Given the description of an element on the screen output the (x, y) to click on. 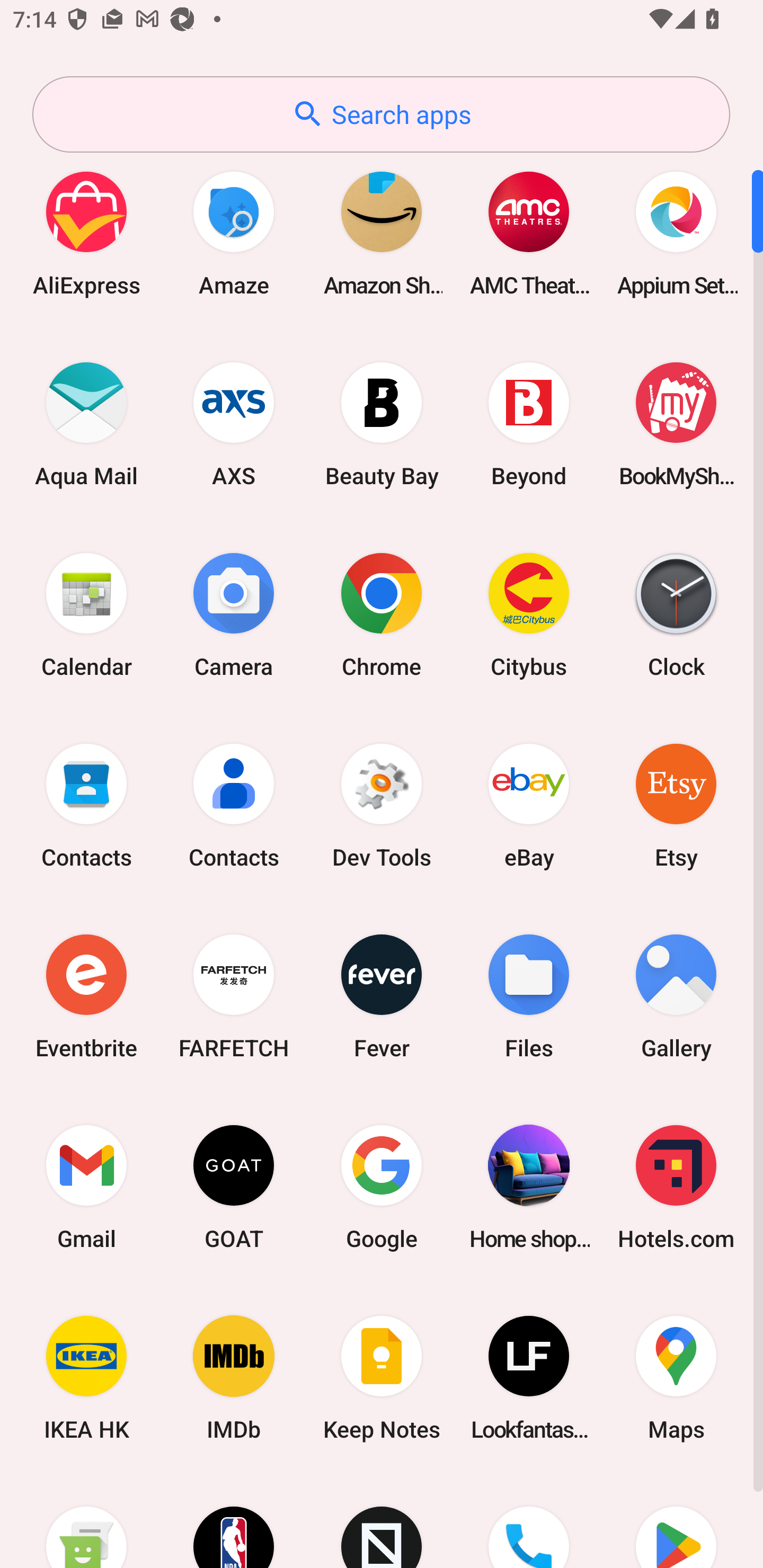
  Search apps (381, 114)
AliExpress (86, 233)
Amaze (233, 233)
Amazon Shopping (381, 233)
AMC Theatres (528, 233)
Appium Settings (676, 233)
Aqua Mail (86, 424)
AXS (233, 424)
Beauty Bay (381, 424)
Beyond (528, 424)
BookMyShow (676, 424)
Calendar (86, 614)
Camera (233, 614)
Chrome (381, 614)
Citybus (528, 614)
Clock (676, 614)
Contacts (86, 805)
Contacts (233, 805)
Dev Tools (381, 805)
eBay (528, 805)
Etsy (676, 805)
Eventbrite (86, 996)
FARFETCH (233, 996)
Fever (381, 996)
Files (528, 996)
Gallery (676, 996)
Gmail (86, 1186)
GOAT (233, 1186)
Google (381, 1186)
Home shopping (528, 1186)
Hotels.com (676, 1186)
IKEA HK (86, 1377)
IMDb (233, 1377)
Keep Notes (381, 1377)
Lookfantastic (528, 1377)
Maps (676, 1377)
Messaging (86, 1520)
NBA (233, 1520)
Novelship (381, 1520)
Phone (528, 1520)
Play Store (676, 1520)
